Given the description of an element on the screen output the (x, y) to click on. 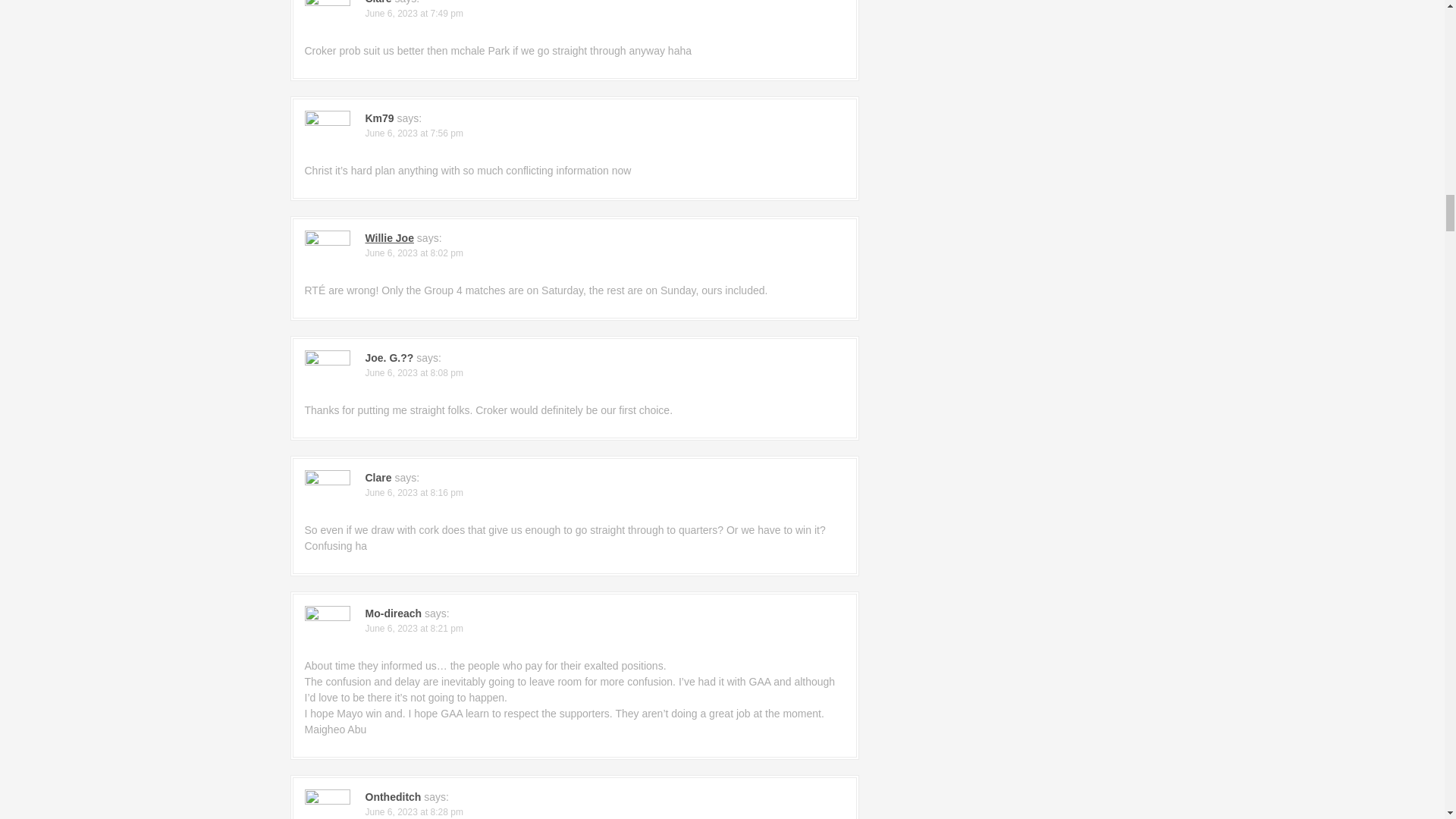
June 6, 2023 at 7:56 pm (414, 132)
Willie Joe (389, 237)
June 6, 2023 at 8:02 pm (414, 253)
June 6, 2023 at 8:08 pm (414, 372)
June 6, 2023 at 7:49 pm (414, 13)
